Given the description of an element on the screen output the (x, y) to click on. 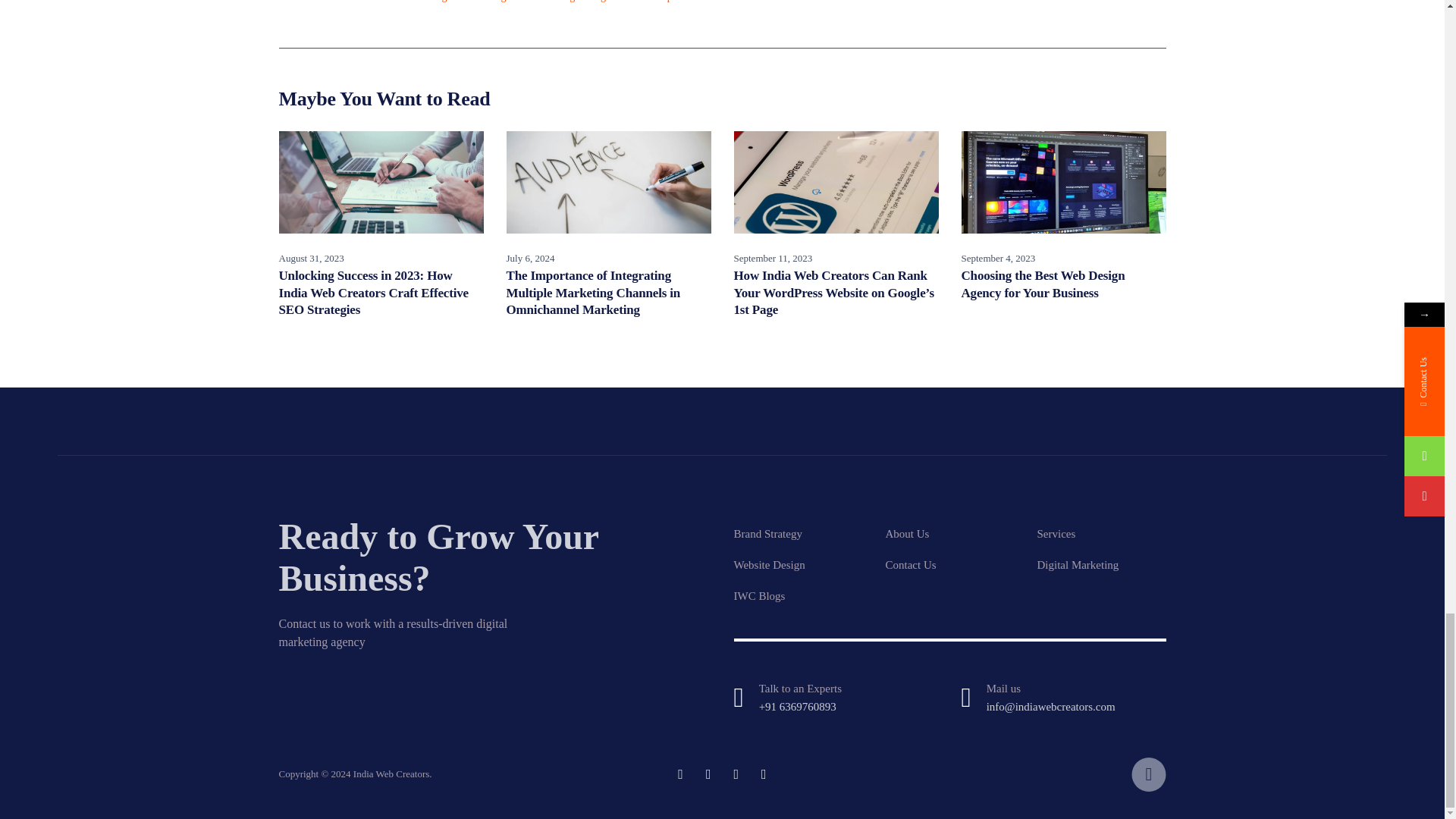
image-1693468158 (381, 182)
startups (657, 2)
marketing strategies (571, 2)
person writing on white (608, 182)
image-1693822591 (1063, 182)
image-1694426128 (836, 182)
digital marketing (465, 2)
